Given the description of an element on the screen output the (x, y) to click on. 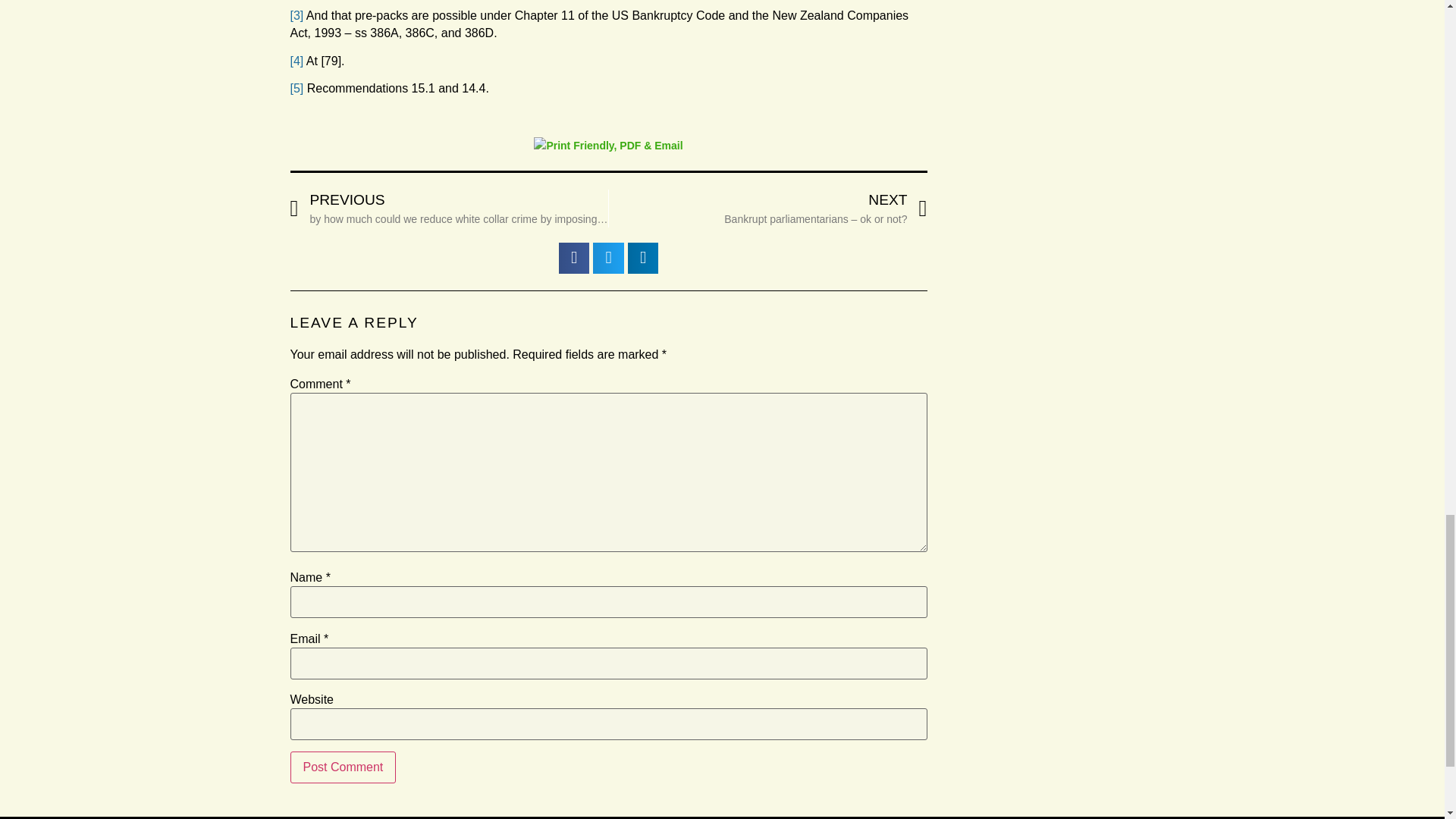
Post Comment (342, 766)
Post Comment (342, 766)
